Given the description of an element on the screen output the (x, y) to click on. 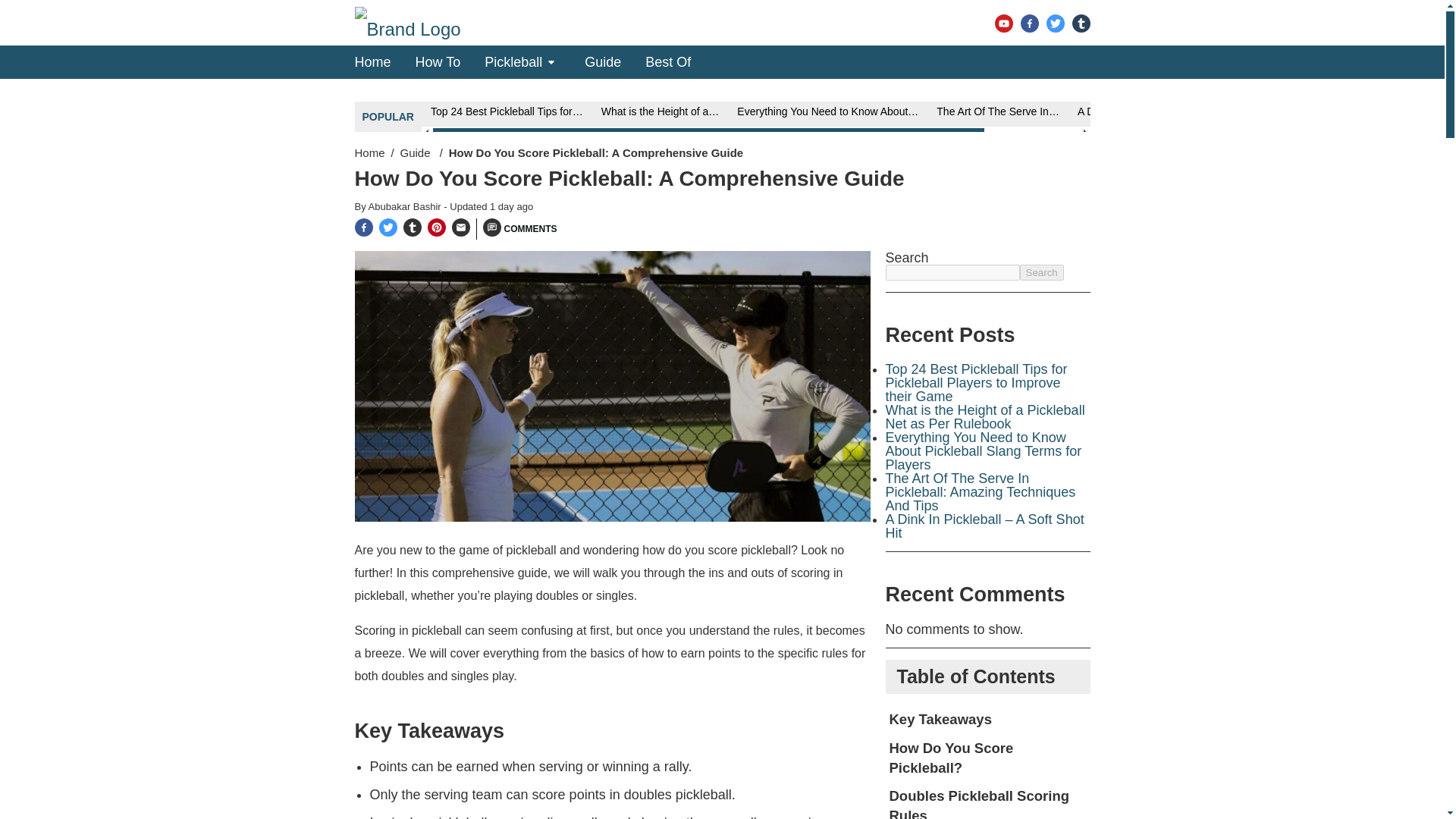
Doubles Pickleball Scoring Rules (988, 800)
Guide (416, 152)
Home (370, 152)
Guide (603, 61)
How Do You Score Pickleball? (988, 757)
Search (1040, 272)
Key Takeaways (988, 719)
Pickleball (512, 61)
Abubakar Bashir (406, 206)
Home (373, 61)
Best Of (667, 61)
COMMENTS (518, 228)
